Given the description of an element on the screen output the (x, y) to click on. 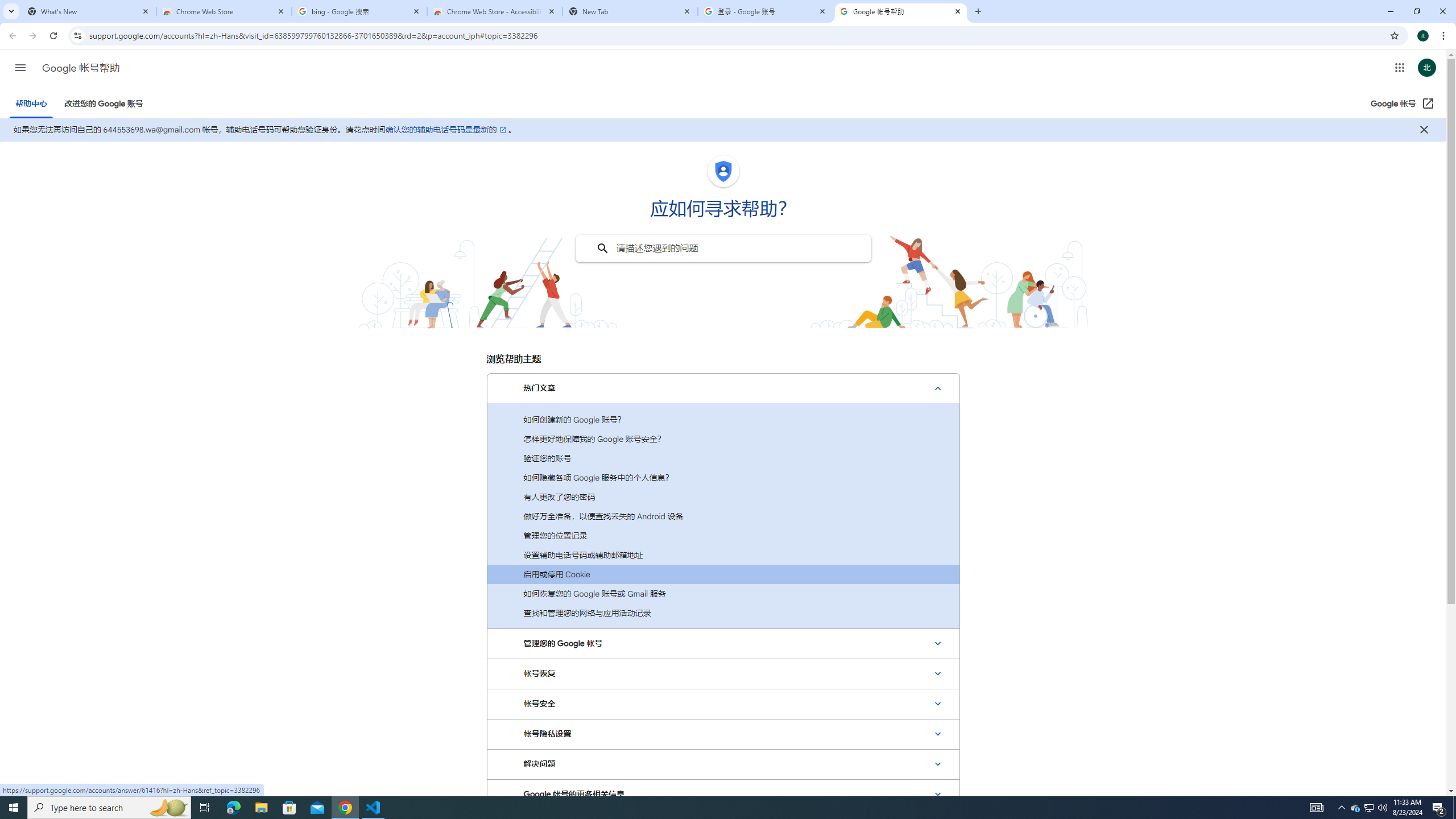
Bookmark this tab (1393, 35)
Chrome Web Store (224, 11)
Chrome Web Store - Accessibility (494, 11)
Minimize (1390, 11)
